Given the description of an element on the screen output the (x, y) to click on. 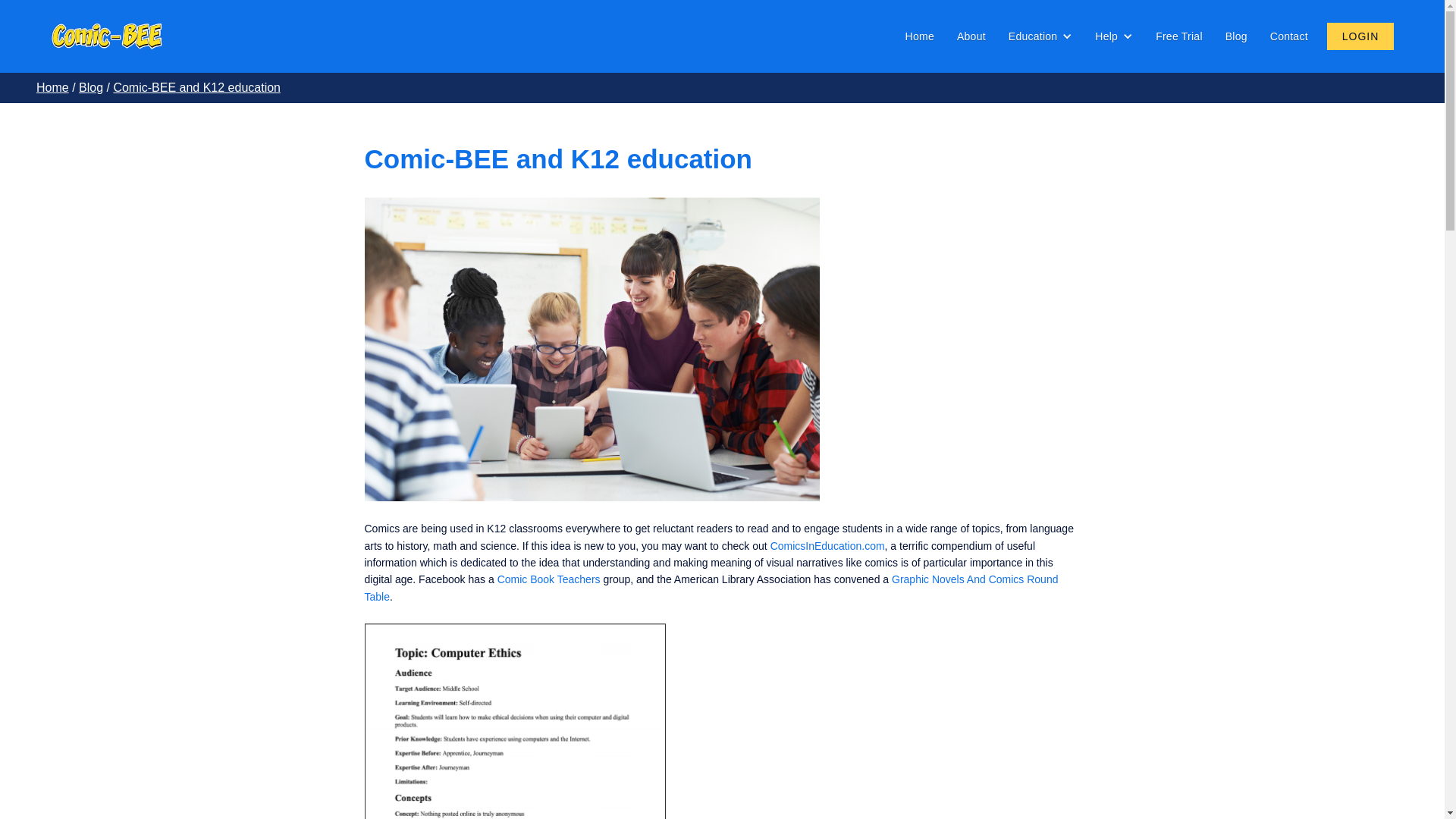
Blog (1236, 35)
Blog (90, 87)
LOGIN (1360, 35)
Contact (1289, 35)
Home (920, 35)
Home (52, 87)
Comic-BEE and K12 education (197, 87)
About (970, 35)
Free Trial (1178, 35)
